Given the description of an element on the screen output the (x, y) to click on. 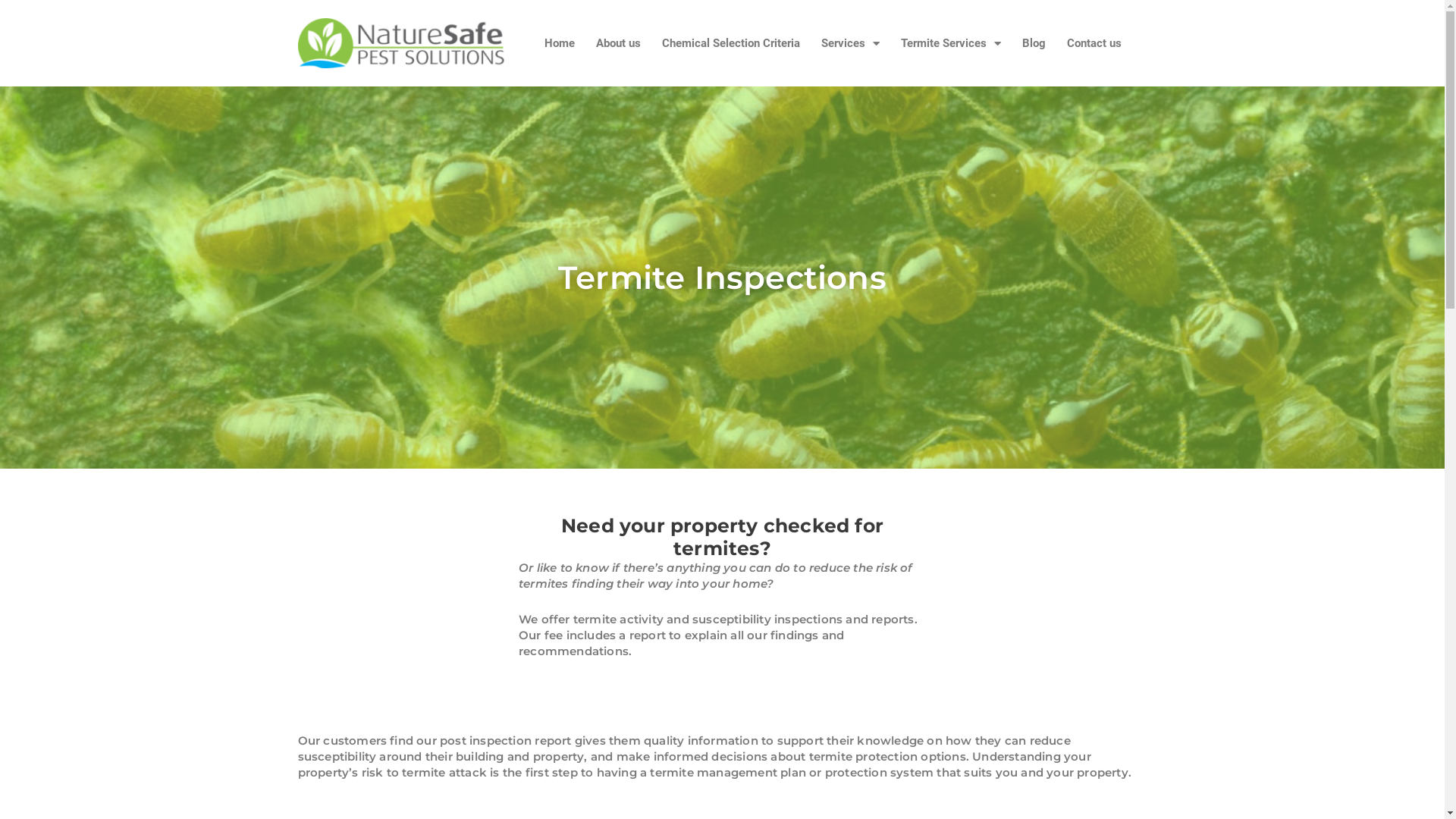
Services Element type: text (850, 42)
Chemical Selection Criteria Element type: text (730, 42)
Blog Element type: text (1033, 42)
Contact us Element type: text (1094, 42)
Home Element type: text (559, 42)
About us Element type: text (618, 42)
Termite Services Element type: text (950, 42)
